Given the description of an element on the screen output the (x, y) to click on. 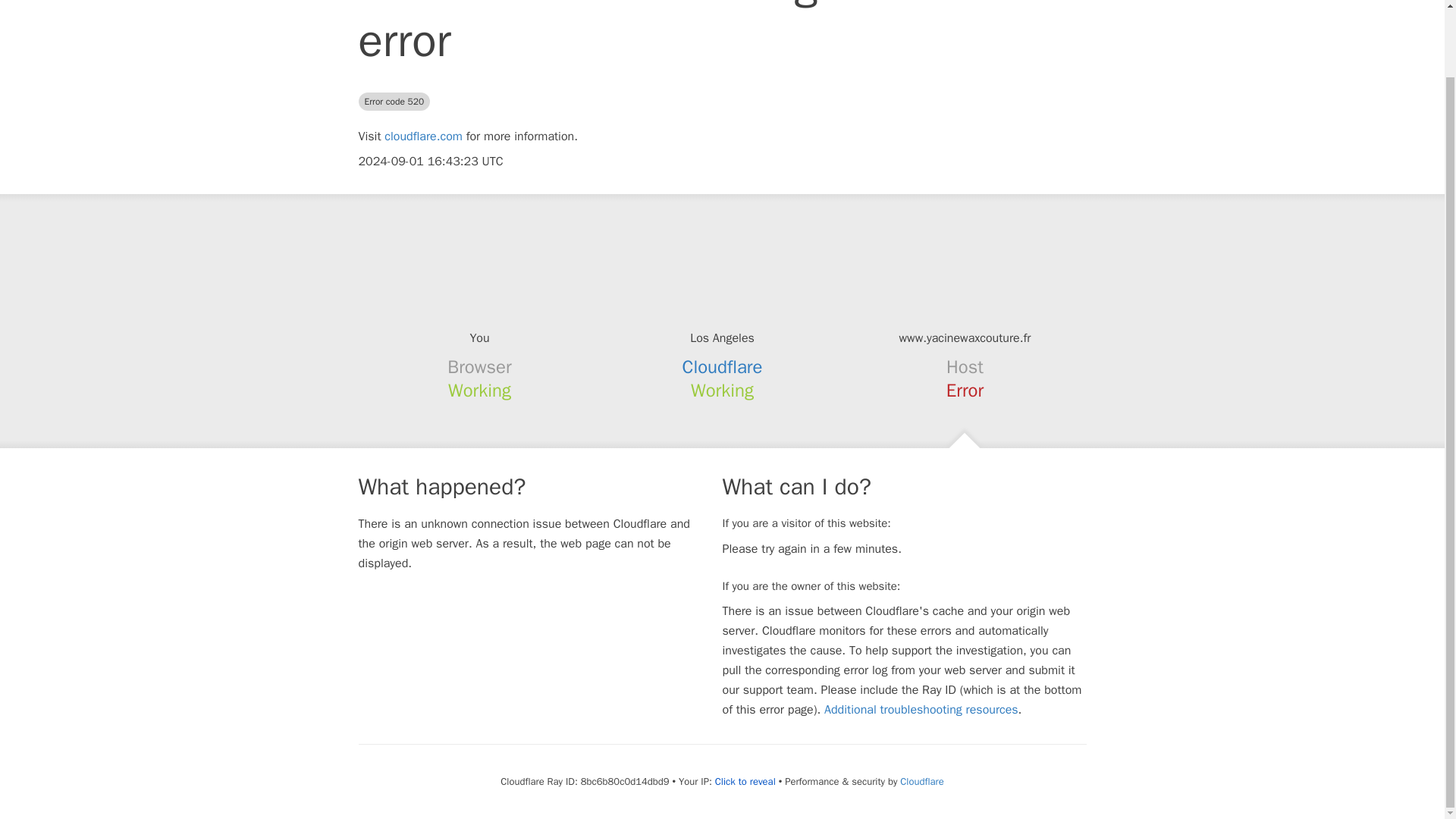
Additional troubleshooting resources (920, 709)
cloudflare.com (423, 136)
Cloudflare (921, 780)
Cloudflare (722, 366)
Click to reveal (745, 781)
